Given the description of an element on the screen output the (x, y) to click on. 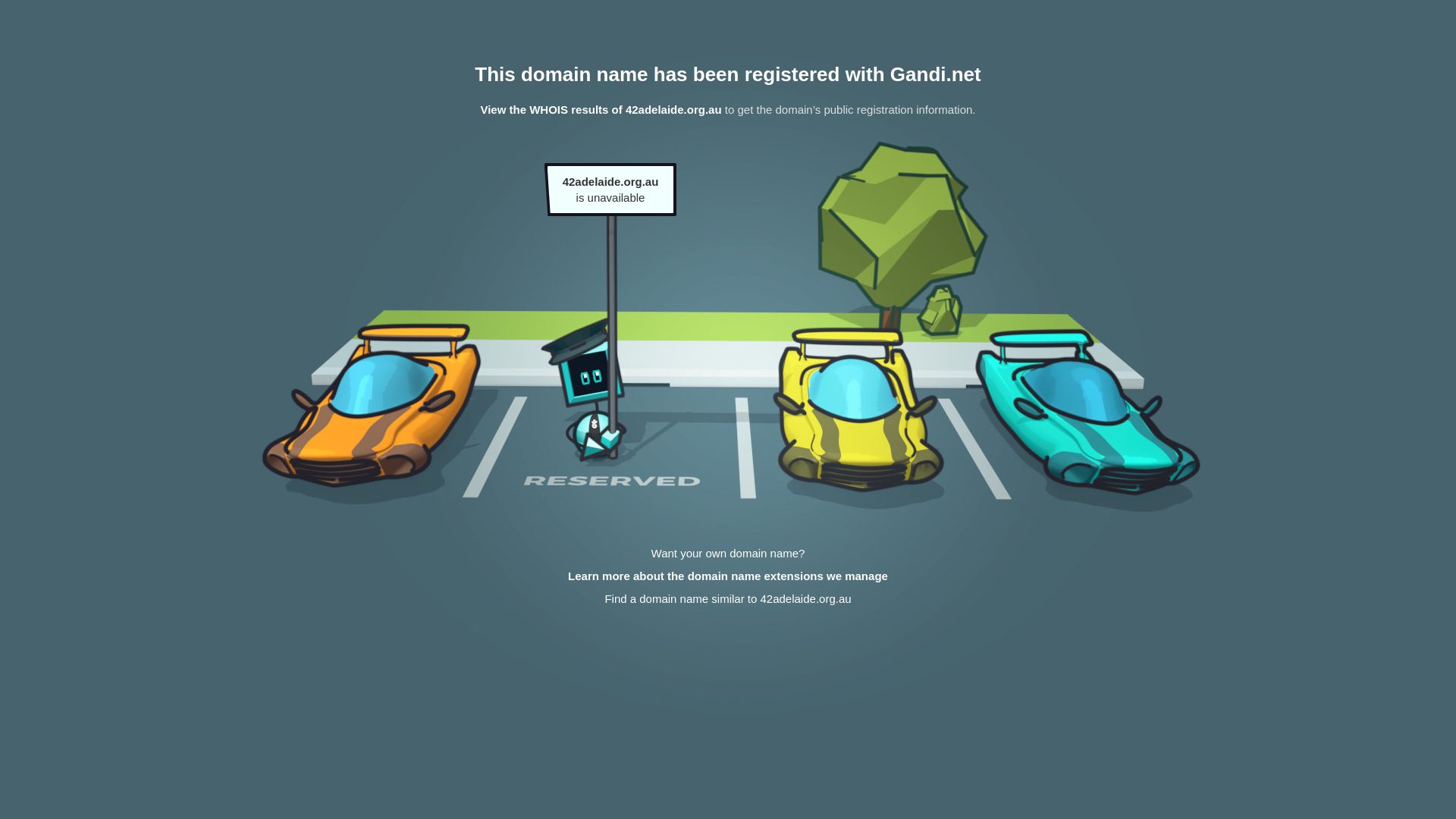
View the WHOIS results of 42adelaide.org.au Element type: text (600, 109)
Learn more about the domain name extensions we manage Element type: text (727, 575)
Find a domain name similar to 42adelaide.org.au Element type: text (727, 598)
